Given the description of an element on the screen output the (x, y) to click on. 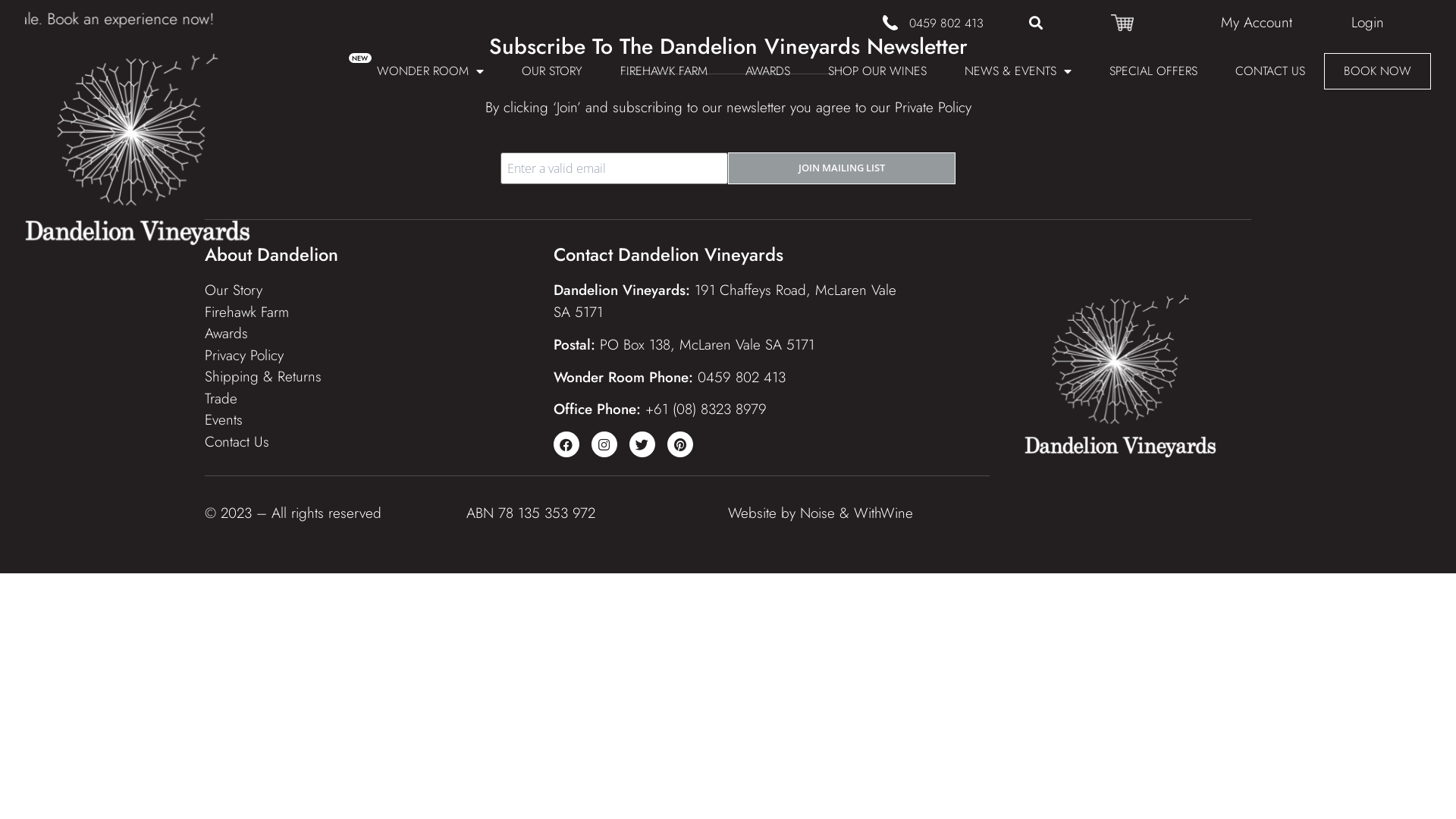
Shipping & Returns Element type: text (262, 376)
Firehawk Farm Element type: text (246, 311)
My Account Element type: text (1256, 22)
Noise Element type: text (817, 512)
SHOP OUR WINES Element type: text (877, 71)
Events Element type: text (223, 419)
NEWS & EVENTS Element type: text (1017, 71)
SPECIAL OFFERS Element type: text (1153, 71)
Privacy Policy Element type: text (243, 355)
Contact Us Element type: text (236, 441)
FIREHAWK FARM Element type: text (663, 71)
AWARDS Element type: text (767, 71)
Awards Element type: text (225, 333)
0459 802 413 Element type: text (946, 22)
WithWine Element type: text (883, 512)
Login Element type: text (1367, 22)
CONTACT US Element type: text (1270, 71)
Trade Element type: text (220, 398)
OUR STORY Element type: text (551, 71)
WONDER ROOM Element type: text (429, 71)
BOOK NOW Element type: text (1377, 71)
Cart Element type: text (1121, 22)
Our Story Element type: text (233, 289)
JOIN MAILING LIST Element type: text (841, 167)
